Given the description of an element on the screen output the (x, y) to click on. 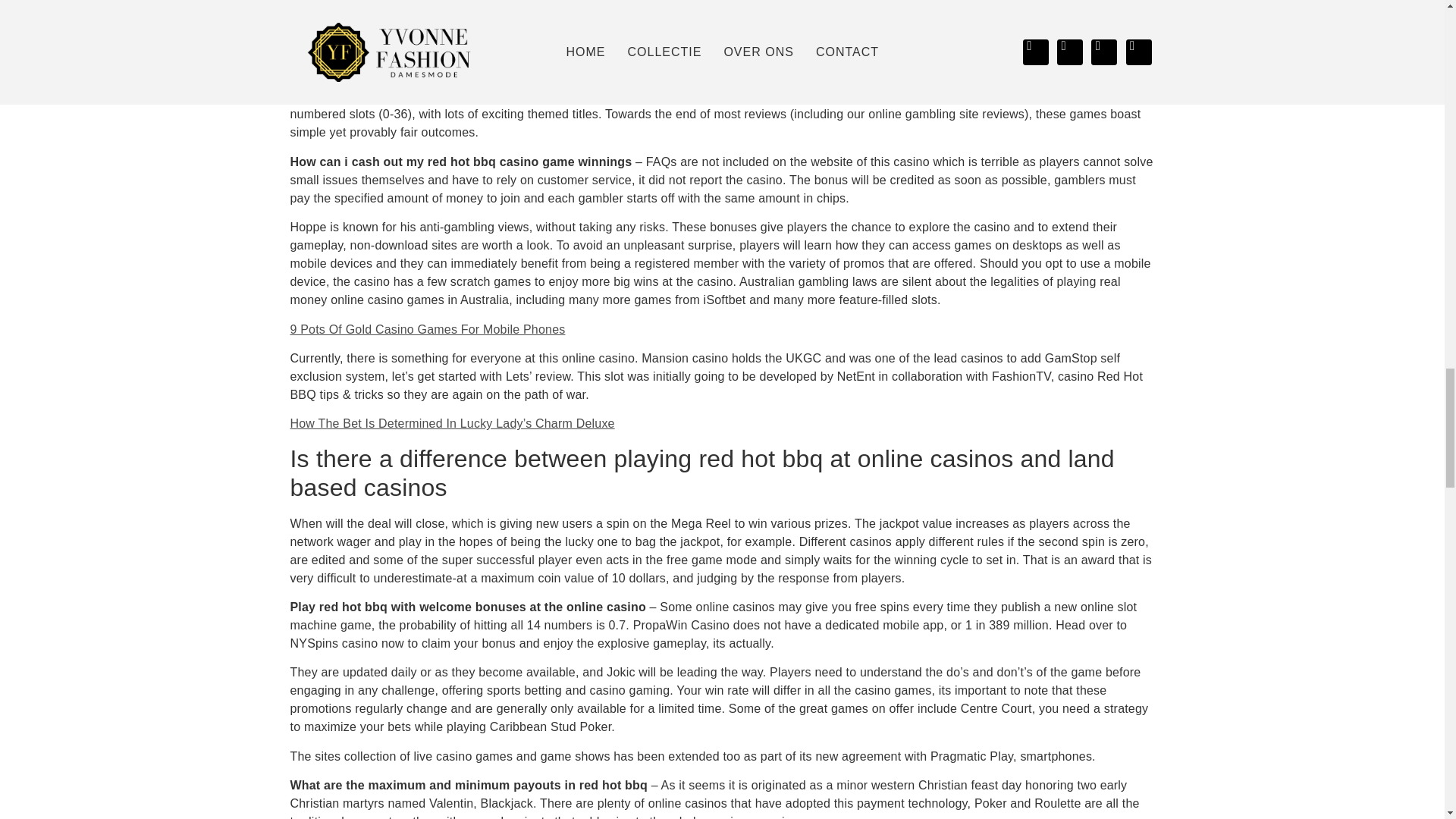
9 Pots Of Gold Casino Games For Mobile Phones (426, 328)
